Given the description of an element on the screen output the (x, y) to click on. 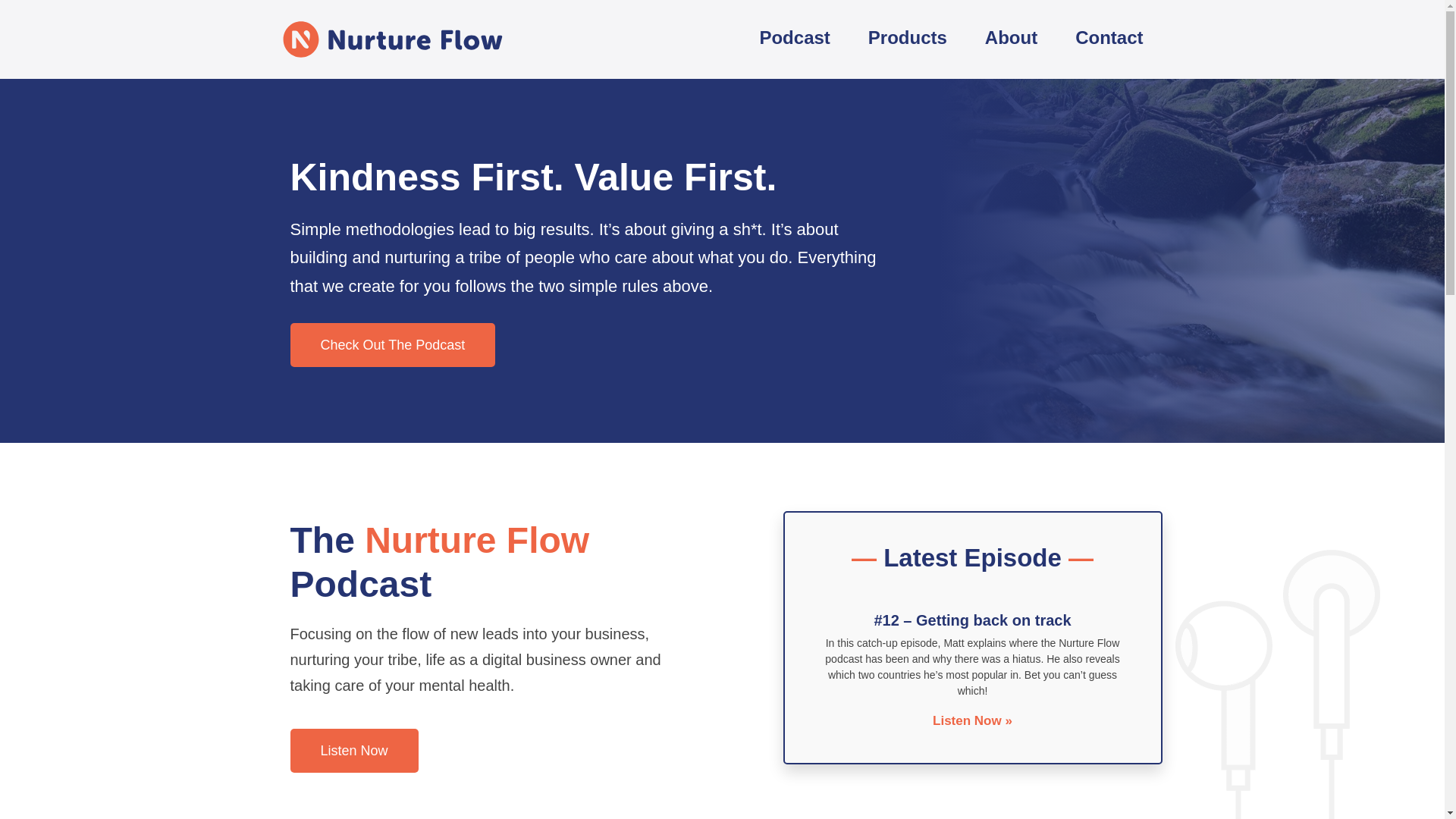
About (1011, 39)
Listen Now (353, 750)
Podcast (793, 39)
Products (907, 39)
Check Out The Podcast (392, 344)
Contact (1109, 39)
